Given the description of an element on the screen output the (x, y) to click on. 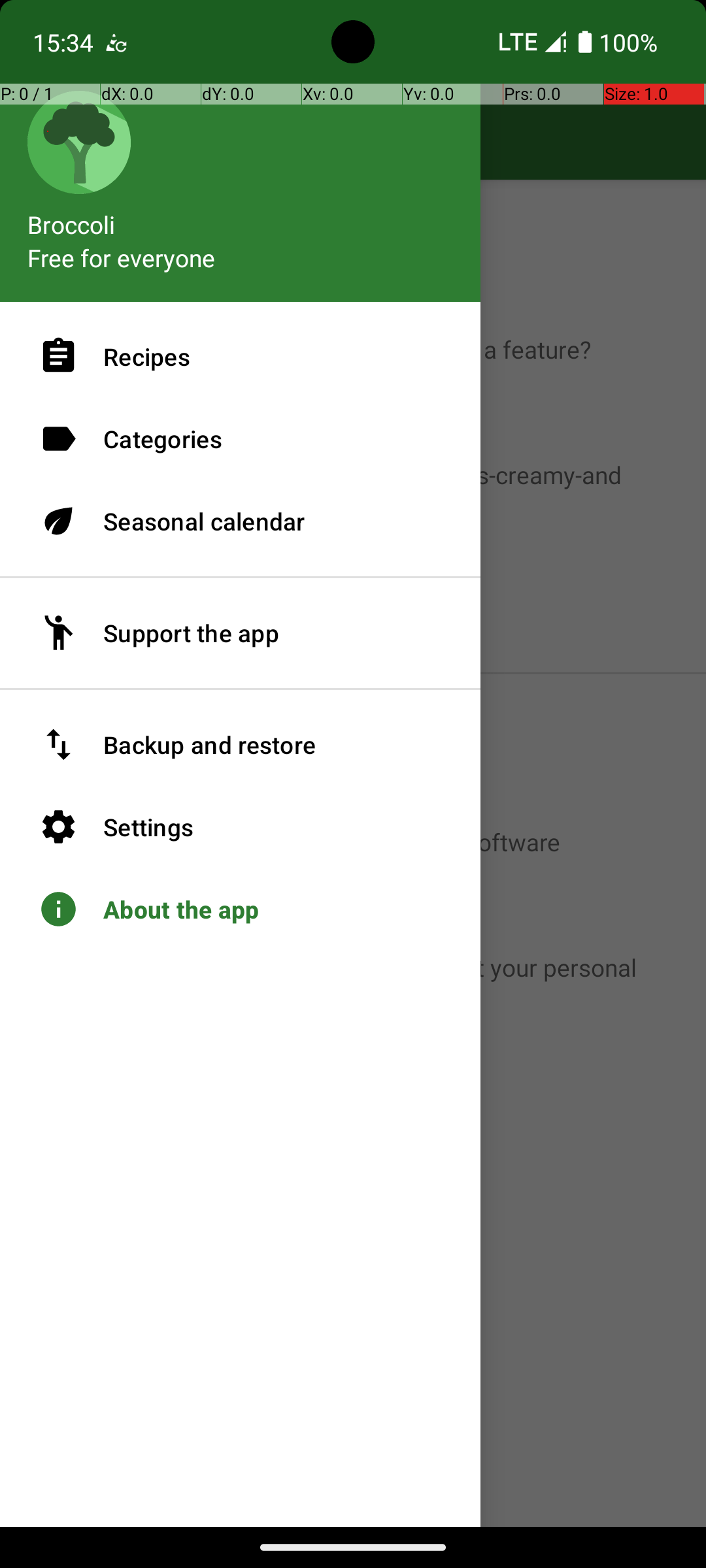
Free for everyone Element type: android.widget.TextView (121, 257)
Seasonal calendar Element type: android.widget.CheckedTextView (239, 521)
Support the app Element type: android.widget.CheckedTextView (239, 632)
Backup and restore Element type: android.widget.CheckedTextView (239, 744)
About the app Element type: android.widget.CheckedTextView (239, 909)
